Given the description of an element on the screen output the (x, y) to click on. 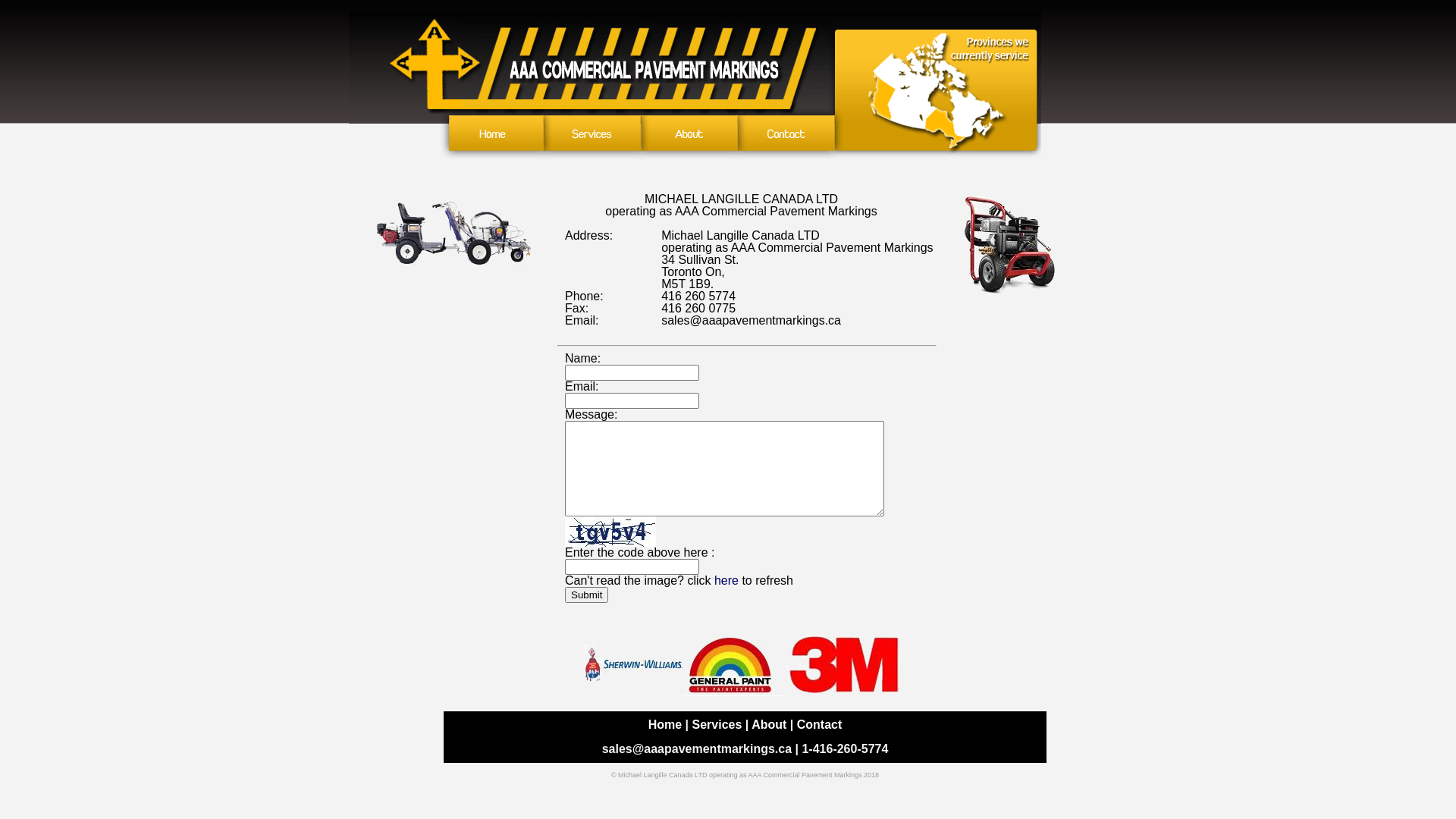
Submit Element type: text (586, 594)
here Element type: text (726, 580)
Services Element type: text (717, 724)
About Element type: text (768, 724)
Home Element type: text (664, 724)
Contact Element type: text (819, 724)
